Given the description of an element on the screen output the (x, y) to click on. 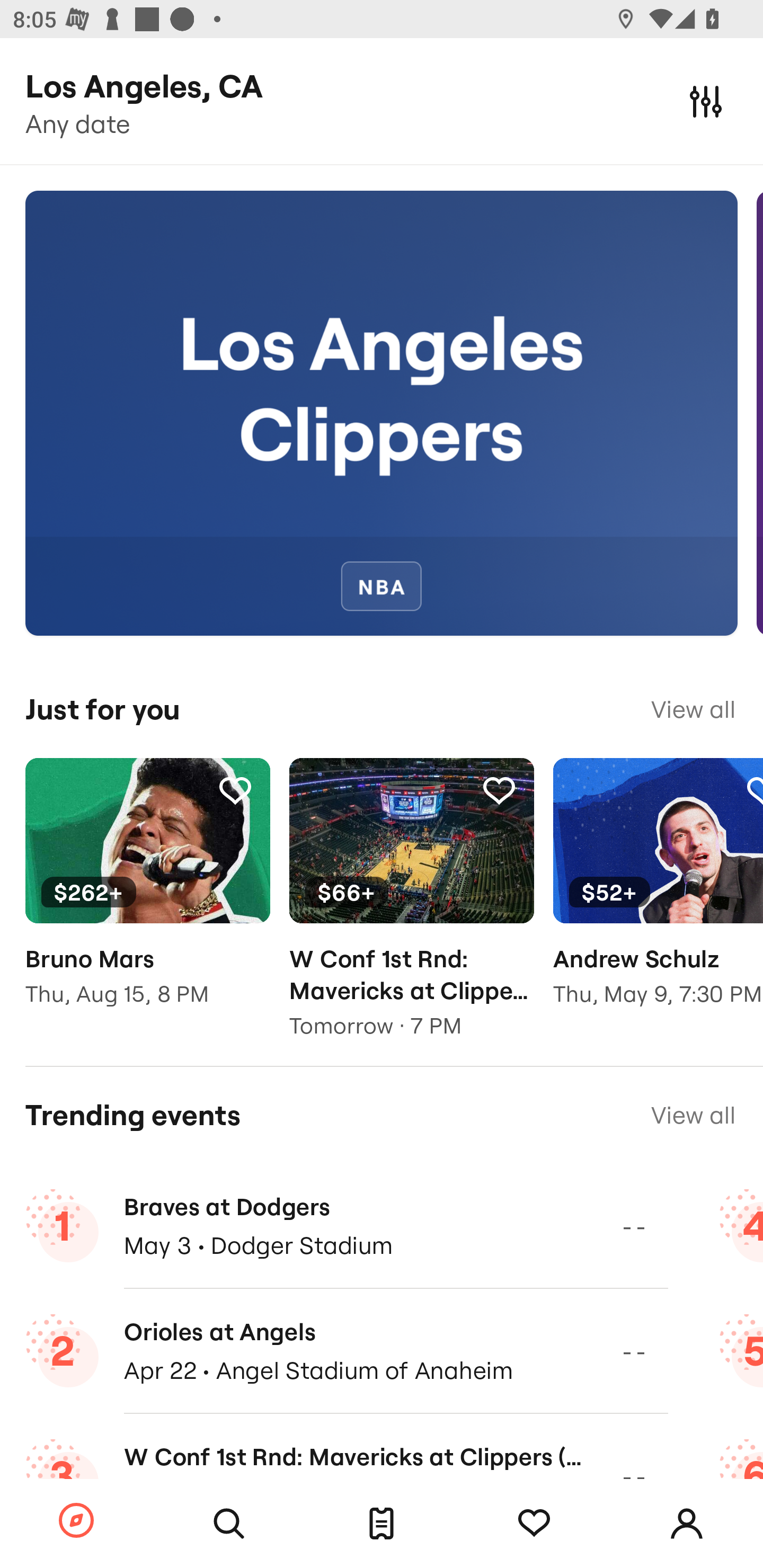
Filters (705, 100)
View all (693, 709)
Tracking $262+ Bruno Mars Thu, Aug 15, 8 PM (147, 895)
Tracking $52+ Andrew Schulz Thu, May 9, 7:30 PM (658, 895)
Tracking (234, 790)
Tracking (498, 790)
View all (693, 1114)
Browse (76, 1521)
Search (228, 1523)
Tickets (381, 1523)
Tracking (533, 1523)
Account (686, 1523)
